Given the description of an element on the screen output the (x, y) to click on. 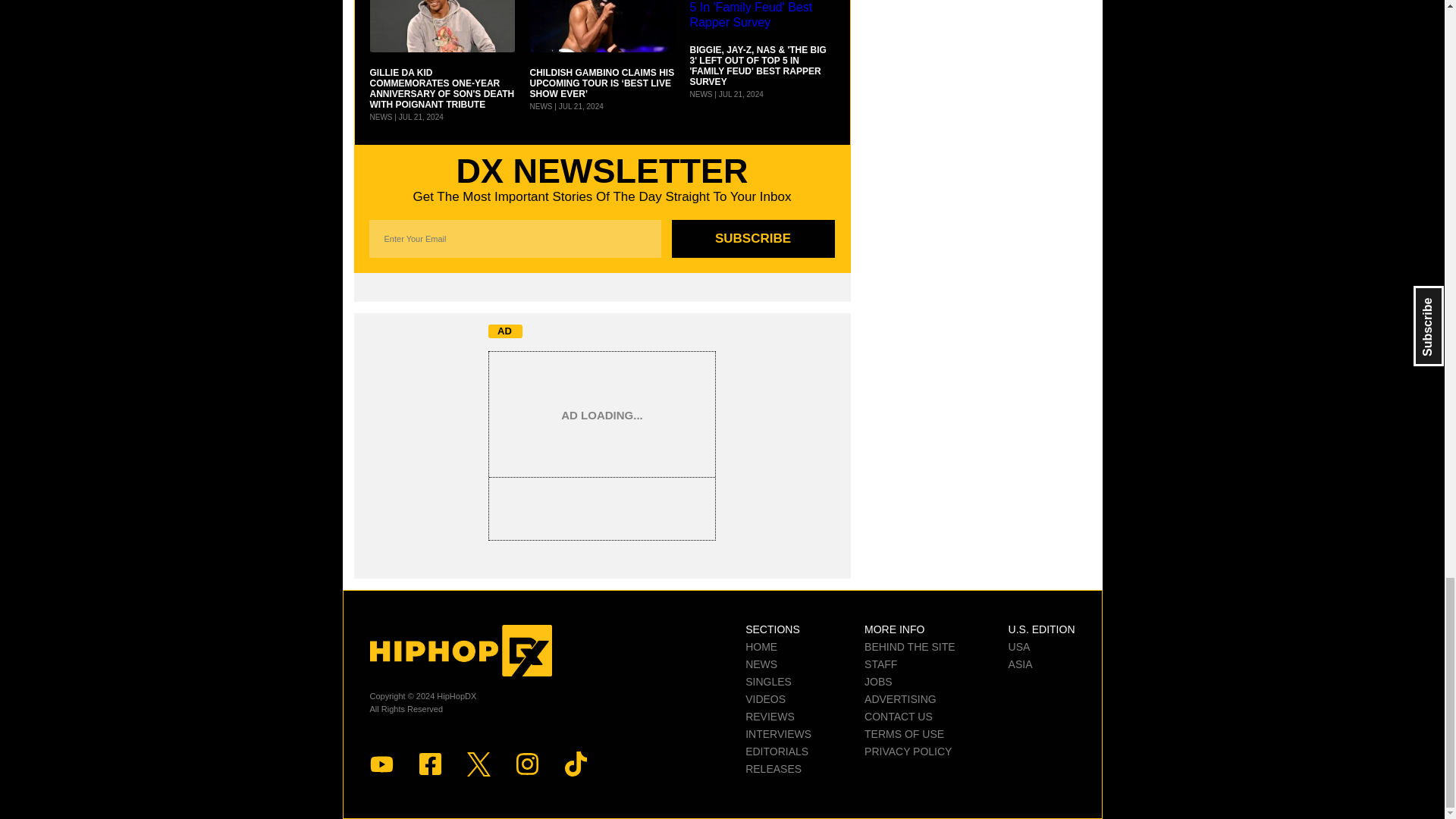
HipHopDX (460, 650)
